Given the description of an element on the screen output the (x, y) to click on. 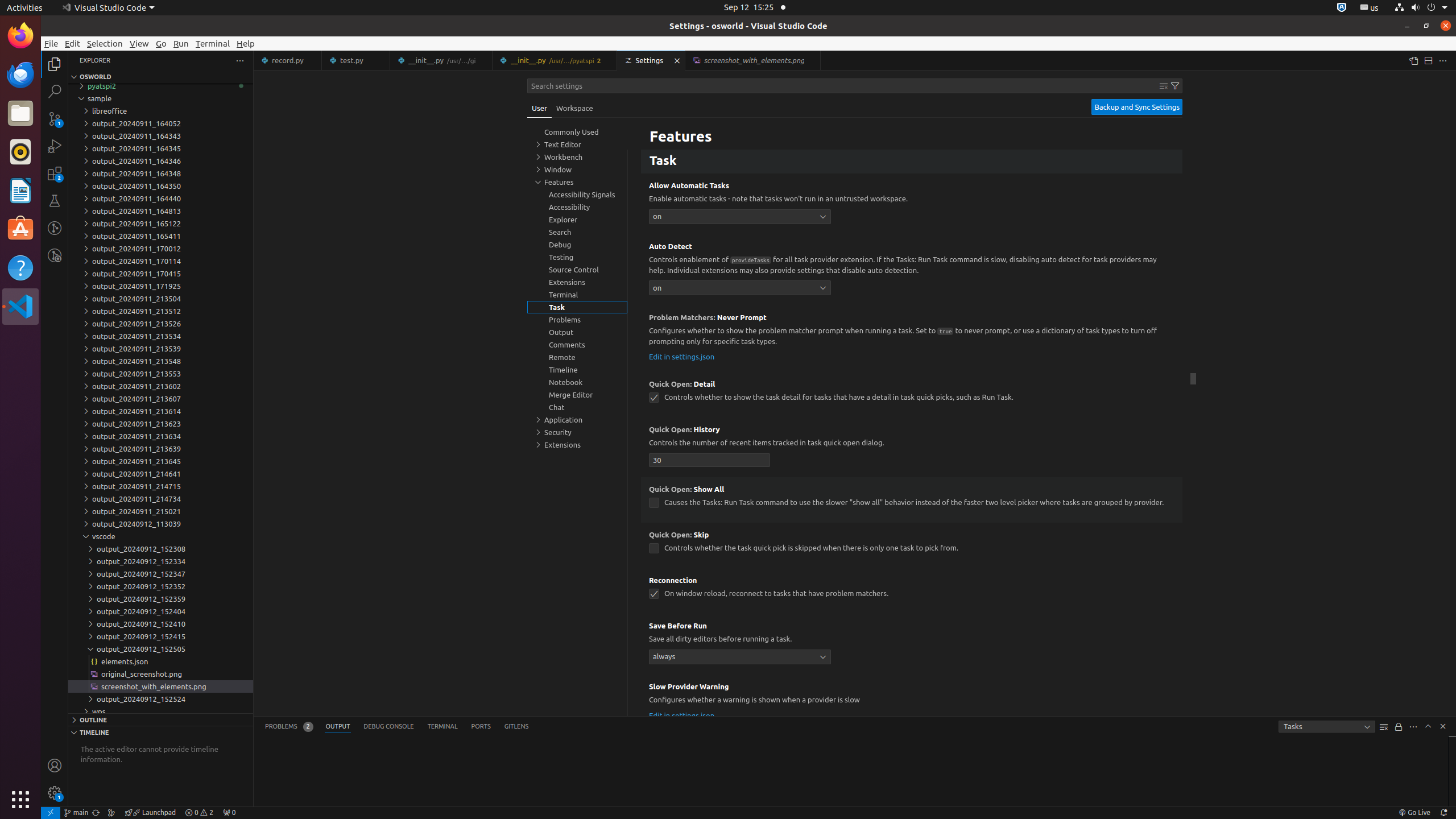
Quick Open Skip. Controls whether the task quick pick is skipped when there is only one task to pick from.  Element type: tree-item (911, 545)
output_20240911_164345 Element type: tree-item (160, 148)
output_20240912_152352 Element type: tree-item (160, 586)
Backup and Sync Settings Element type: push-button (1136, 106)
Firefox Web Browser Element type: push-button (20, 35)
